Given the description of an element on the screen output the (x, y) to click on. 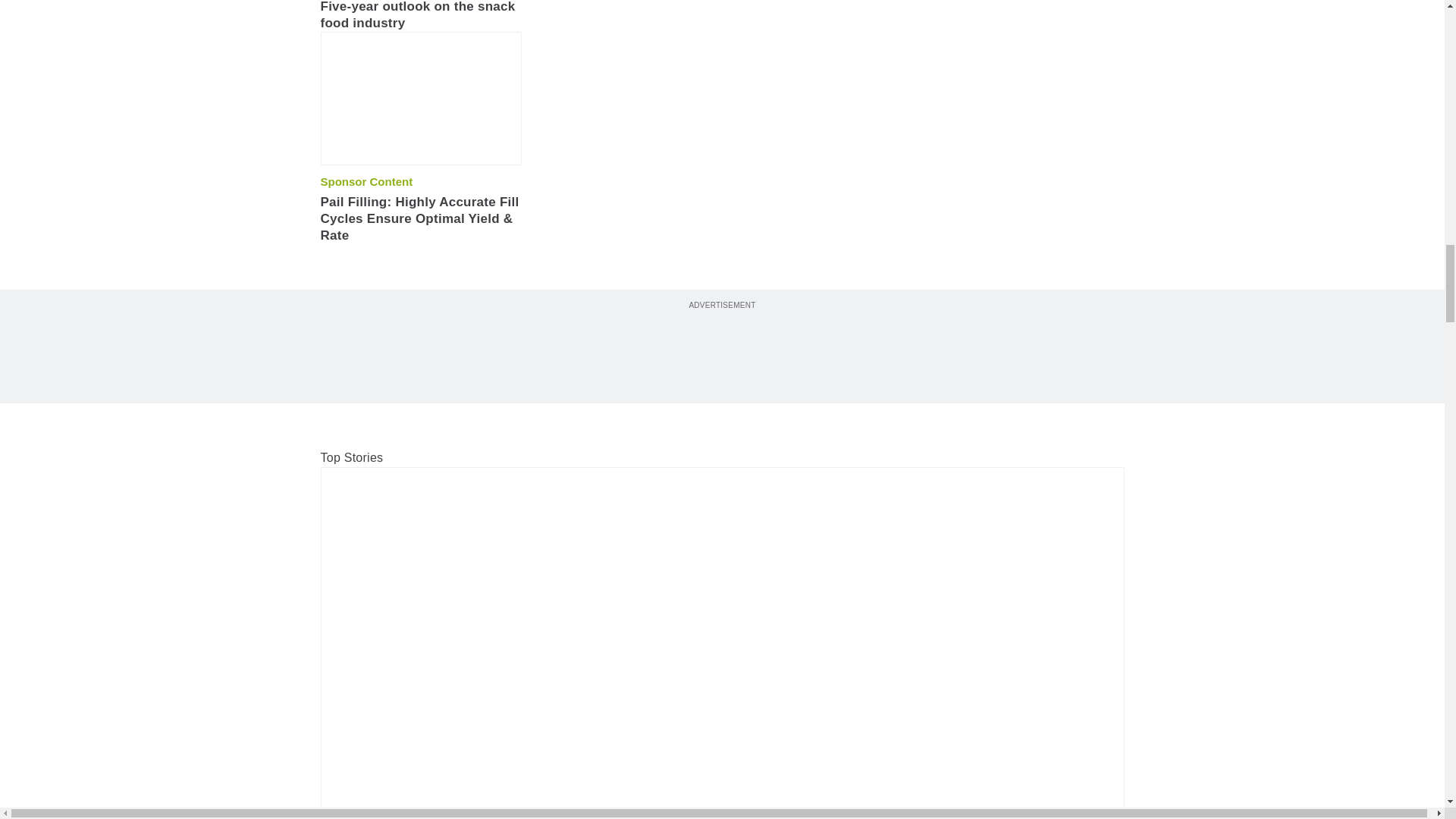
Sponsor Content (366, 181)
